Given the description of an element on the screen output the (x, y) to click on. 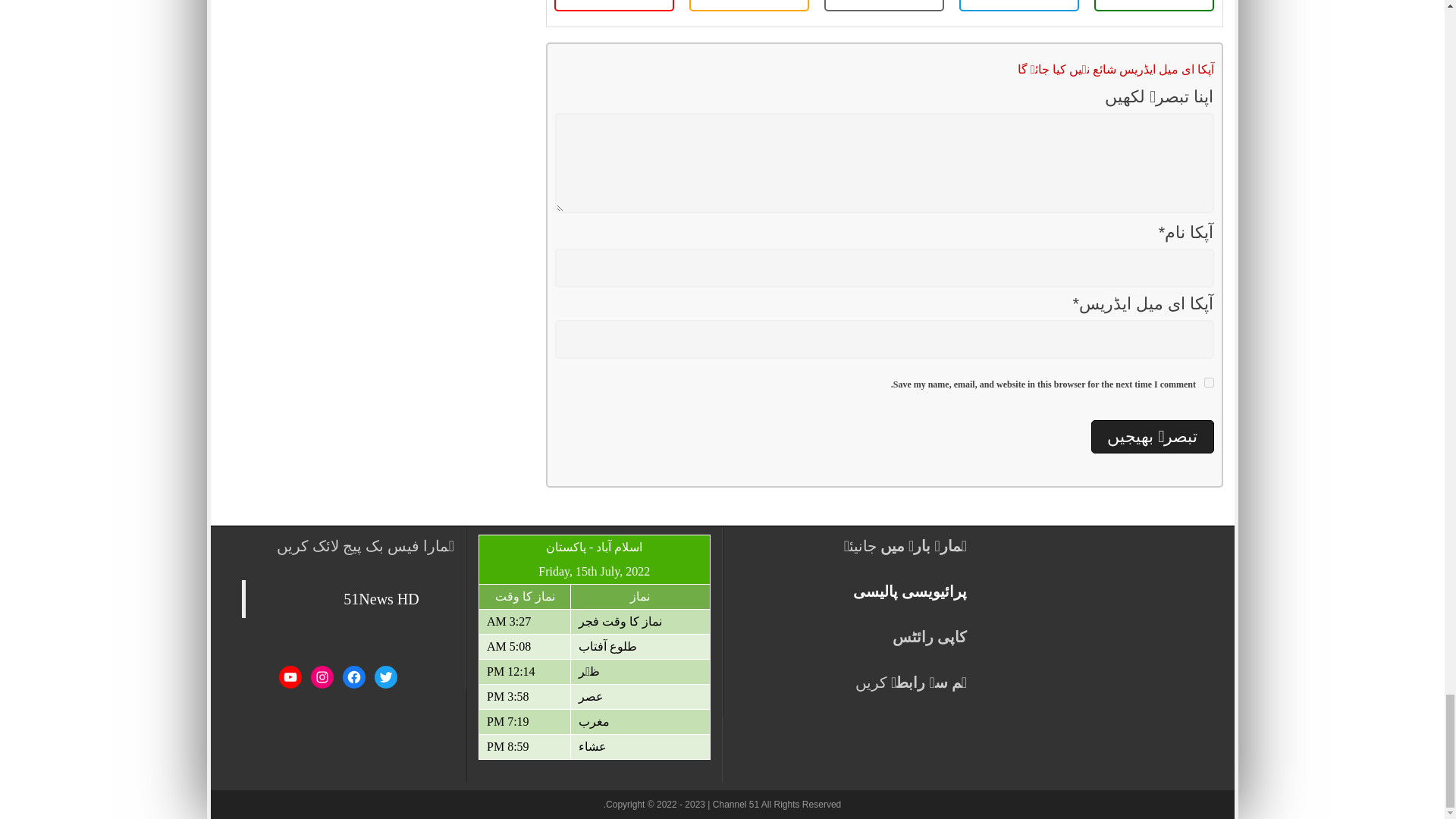
yes (1209, 382)
